Given the description of an element on the screen output the (x, y) to click on. 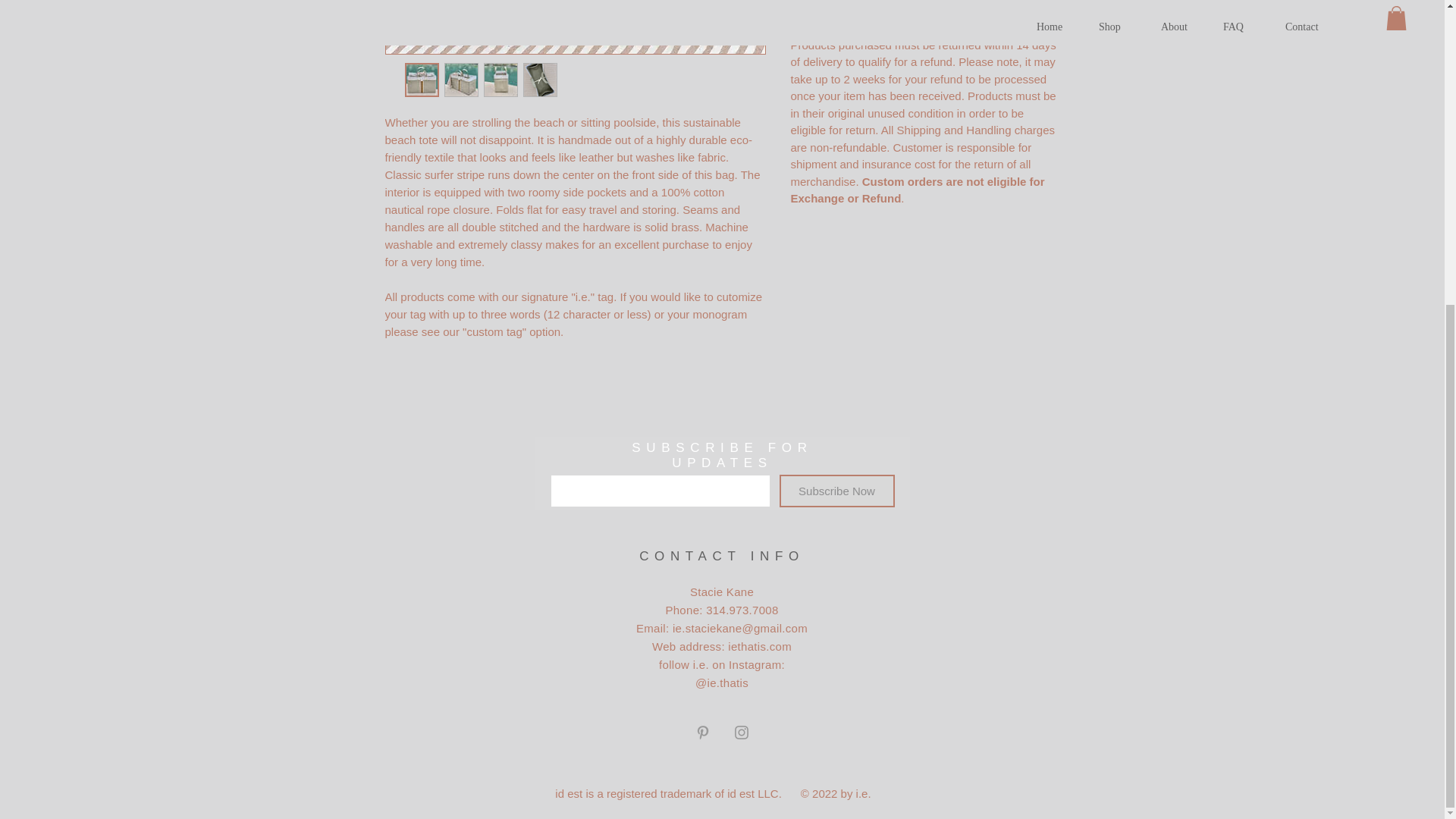
Subscribe Now (836, 490)
return and refund policy (924, 14)
